Given the description of an element on the screen output the (x, y) to click on. 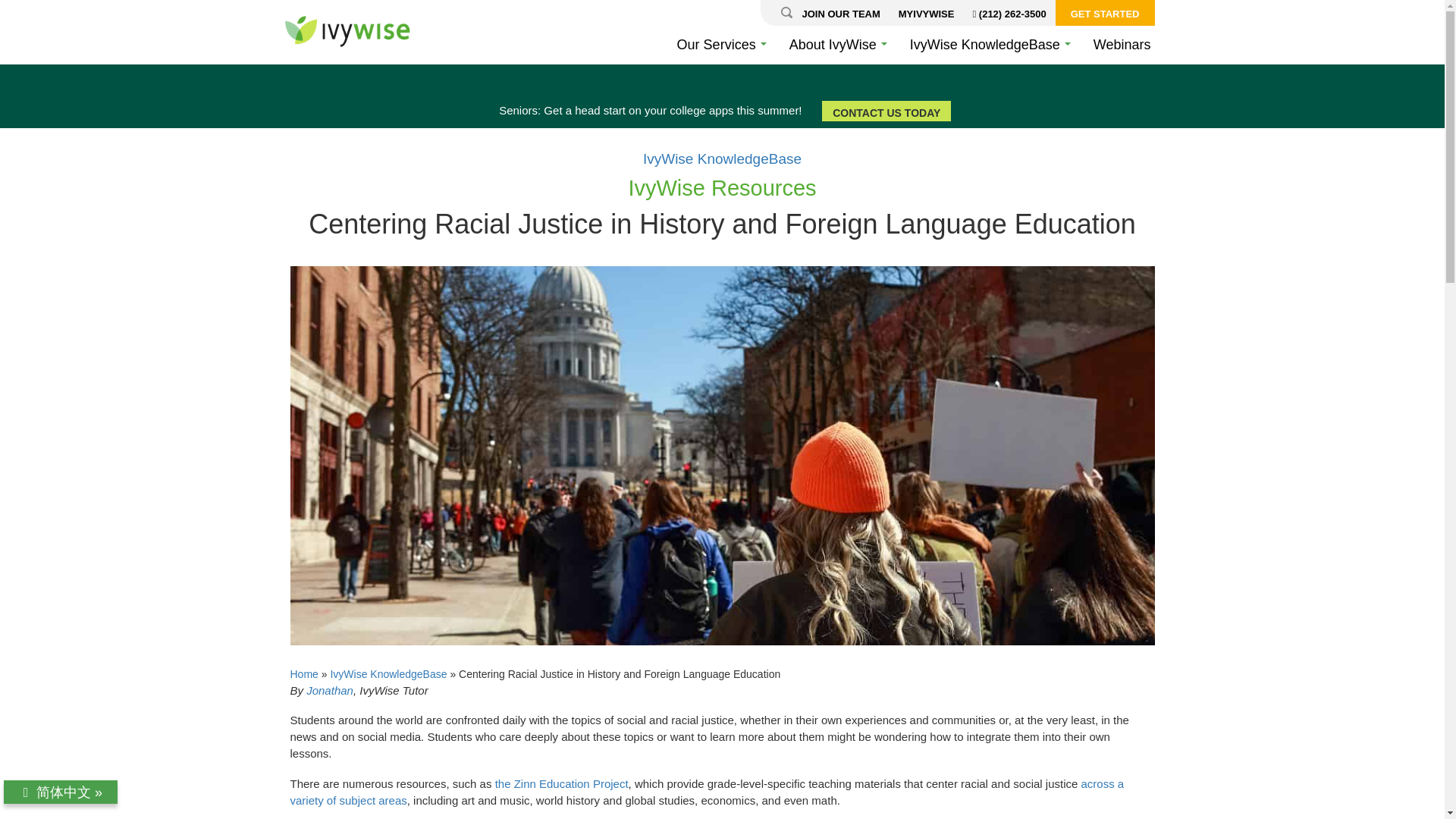
IvyWise (347, 31)
GET STARTED (1104, 12)
About IvyWise... (837, 44)
MYIVYWISE (926, 12)
JOIN OUR TEAM (840, 12)
Our Services... (721, 44)
